Given the description of an element on the screen output the (x, y) to click on. 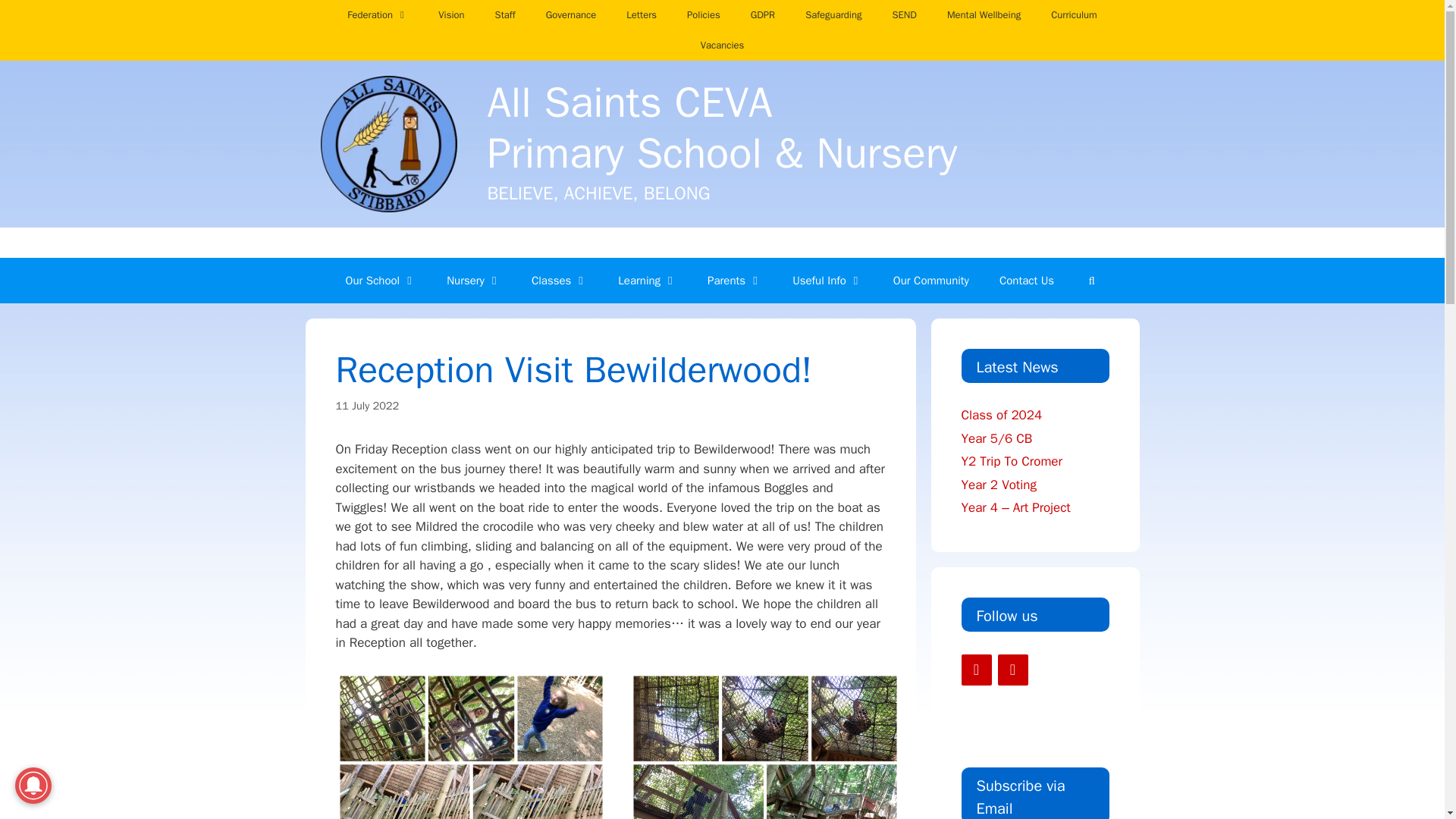
Governance (571, 15)
Facebook (975, 668)
SEND (903, 15)
Twitter (1012, 668)
Federation (377, 15)
Our School (381, 280)
Vacancies (722, 45)
Safeguarding (833, 15)
All Saints Logo (388, 144)
Classes (559, 280)
